Given the description of an element on the screen output the (x, y) to click on. 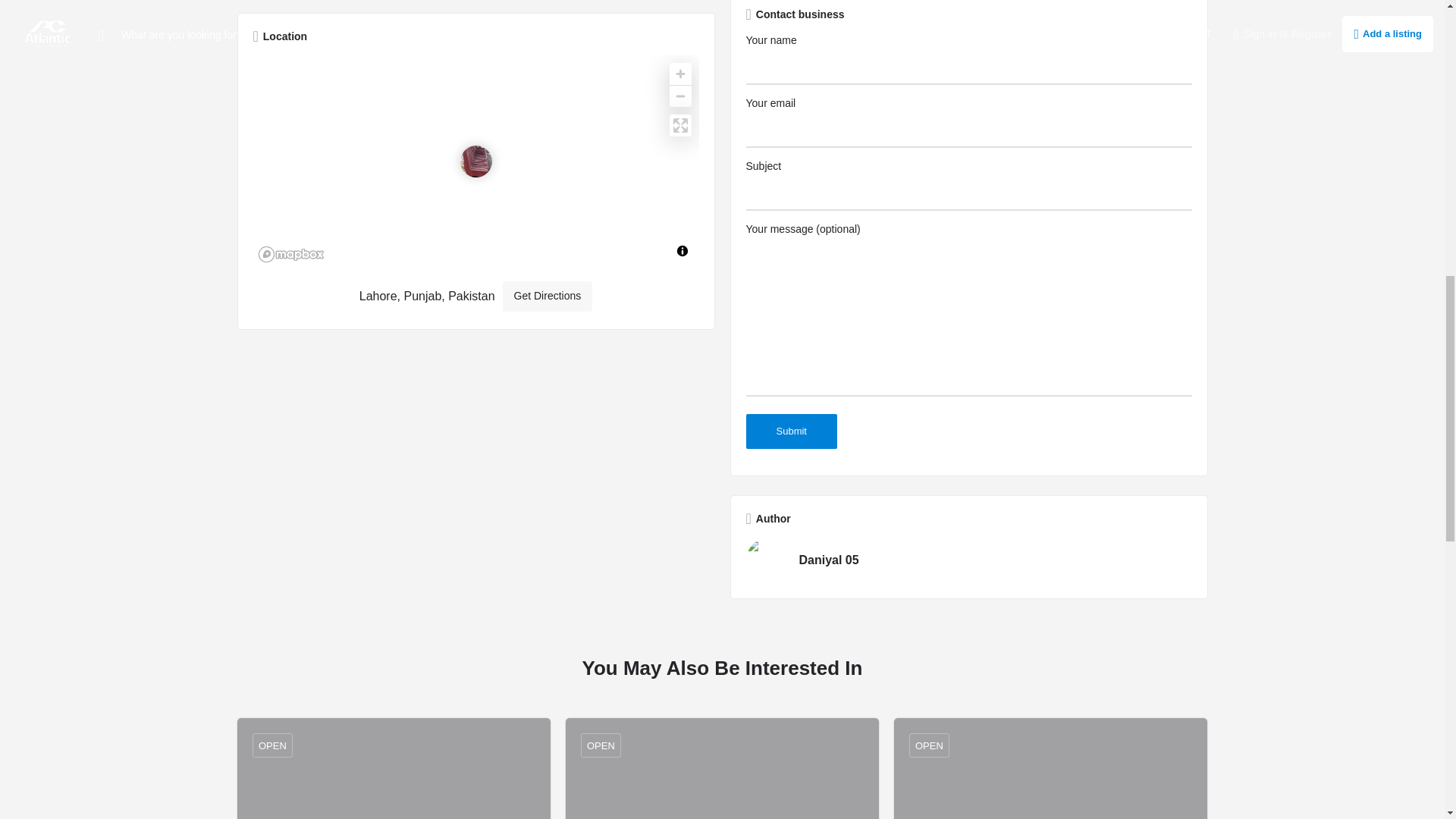
Zoom out (679, 96)
Submit (791, 431)
Enter fullscreen (679, 125)
Zoom in (679, 74)
